Given the description of an element on the screen output the (x, y) to click on. 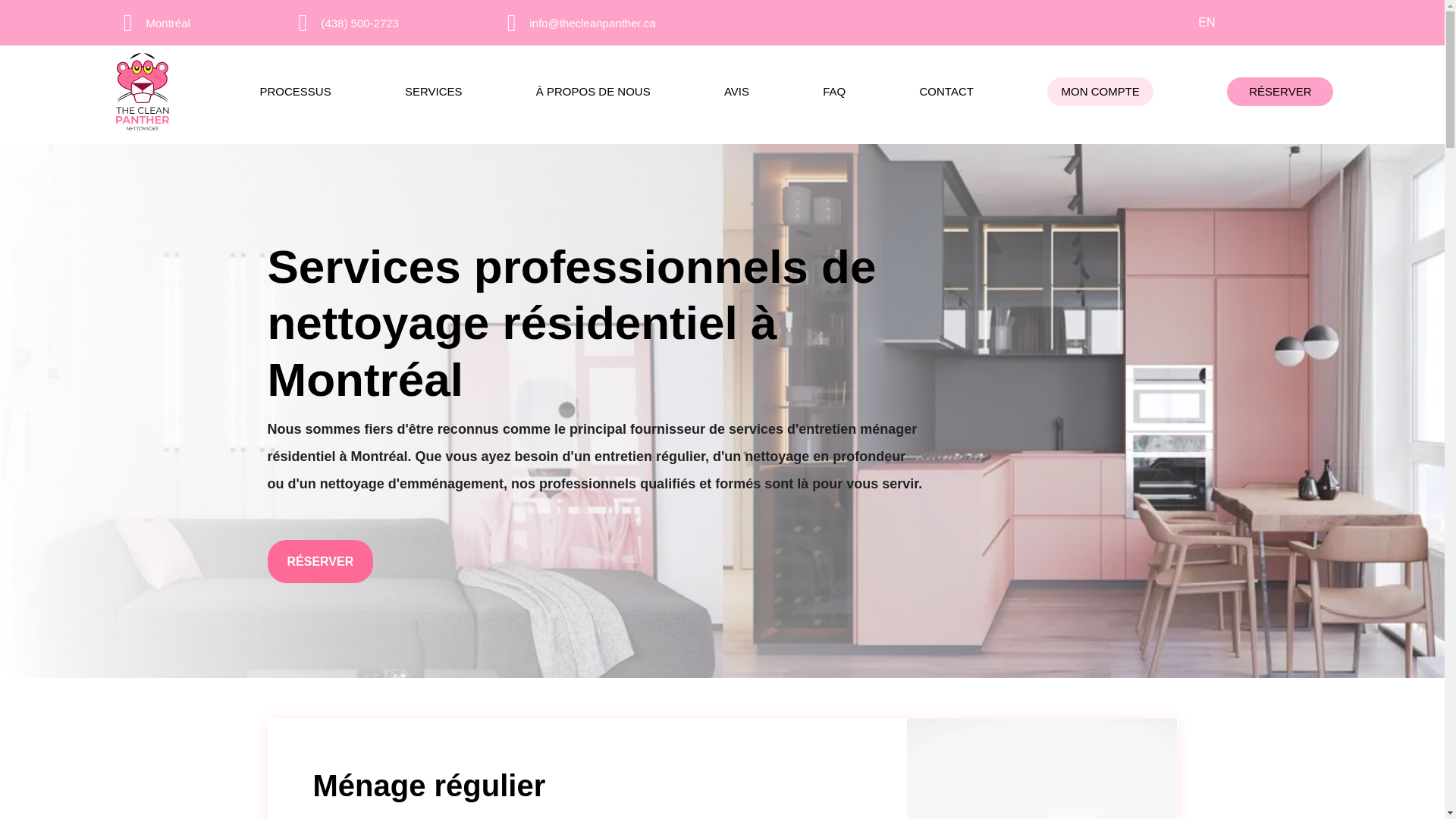
SERVICES (433, 91)
MON COMPTE (1099, 91)
CONTACT (947, 91)
EN (1206, 22)
PROCESSUS (294, 91)
